Given the description of an element on the screen output the (x, y) to click on. 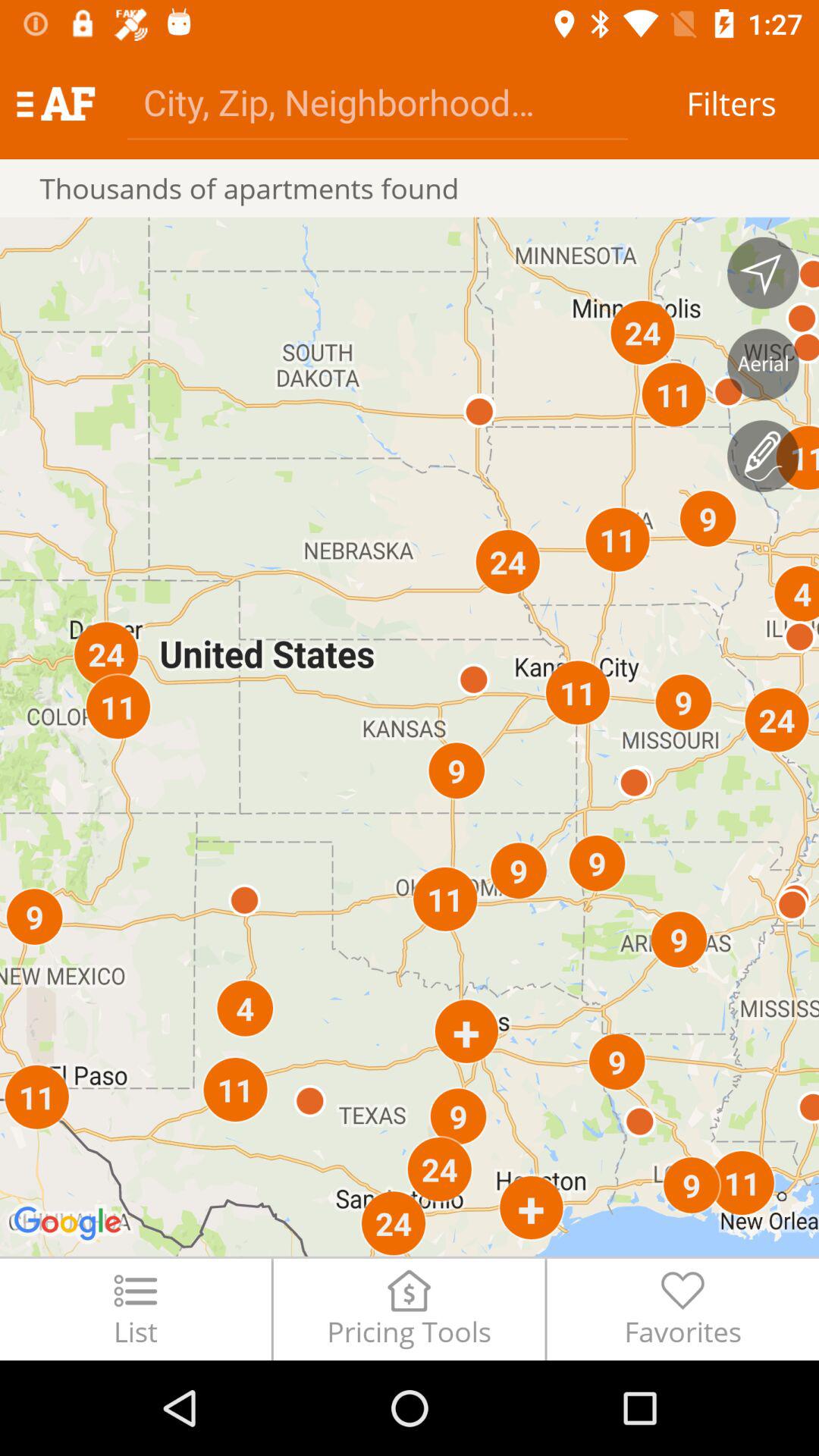
select icon above the thousands of apartments icon (55, 103)
